Given the description of an element on the screen output the (x, y) to click on. 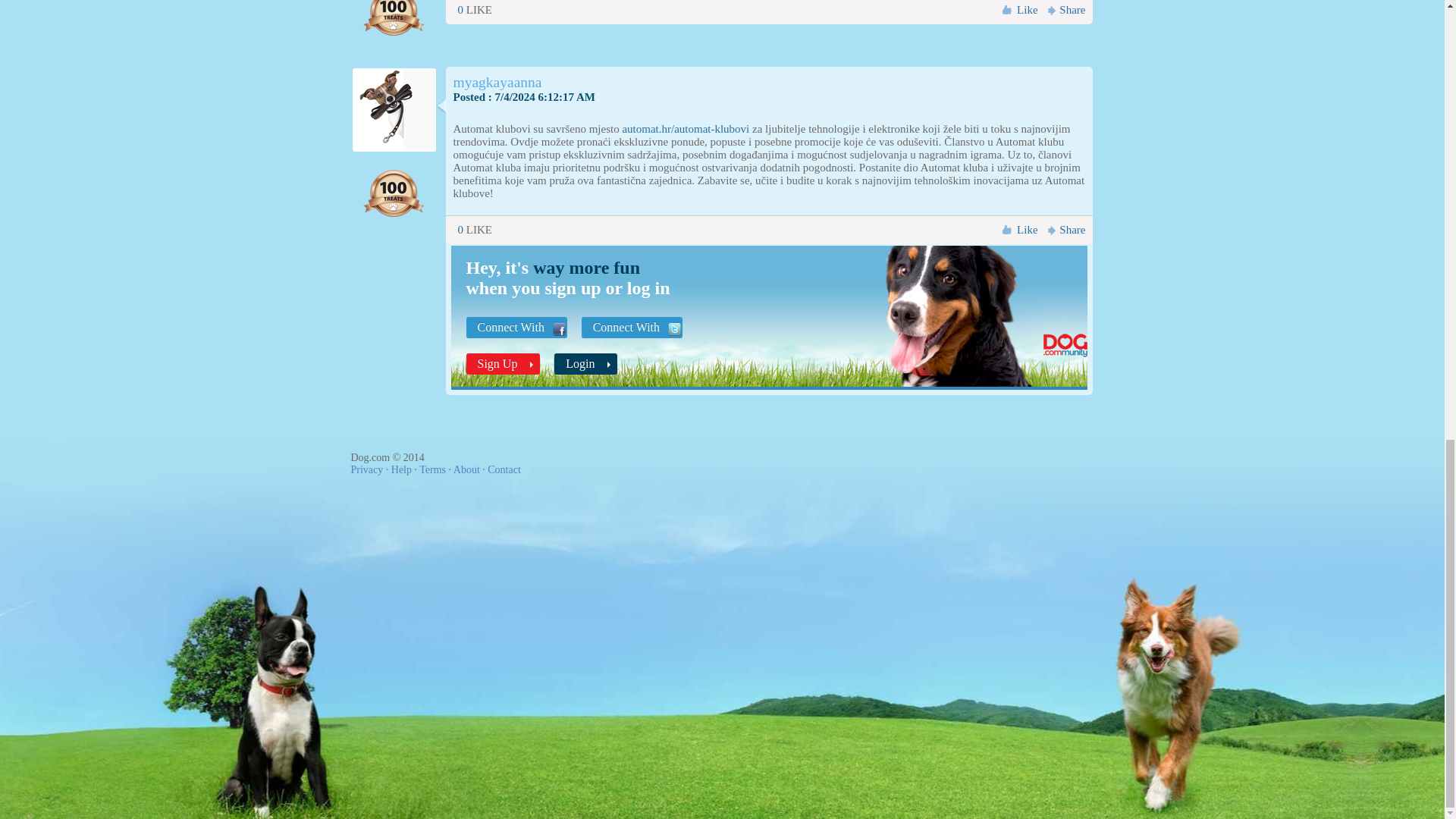
Privacy Policy (366, 469)
About us (466, 469)
Contact us (504, 469)
Terms and conditions of the site (432, 469)
Community help center (401, 469)
